Given the description of an element on the screen output the (x, y) to click on. 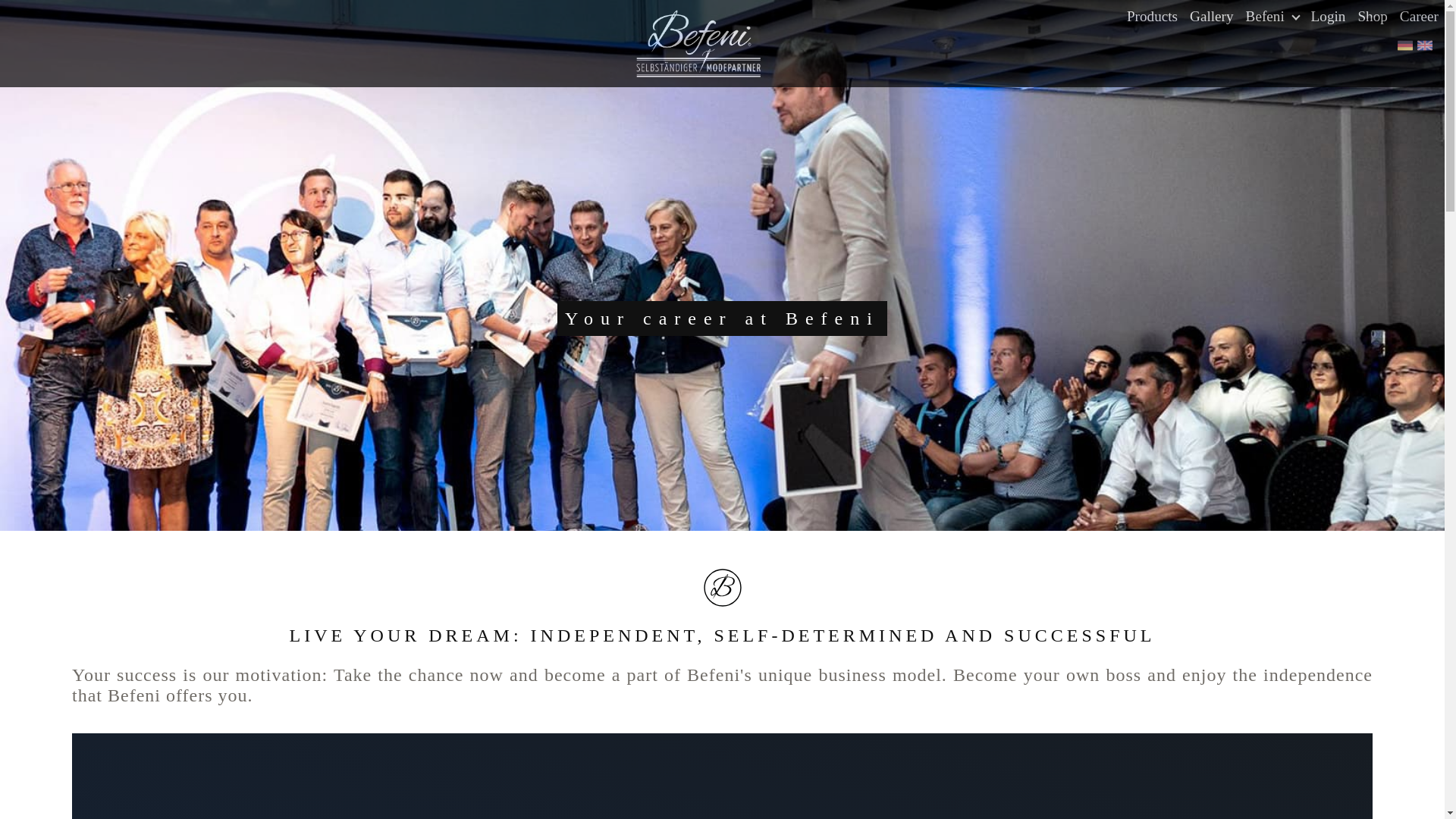
Career (1418, 17)
Gallery (1211, 17)
Befeni (1272, 17)
Shop (1372, 17)
Products (1152, 17)
Login (1328, 17)
